Given the description of an element on the screen output the (x, y) to click on. 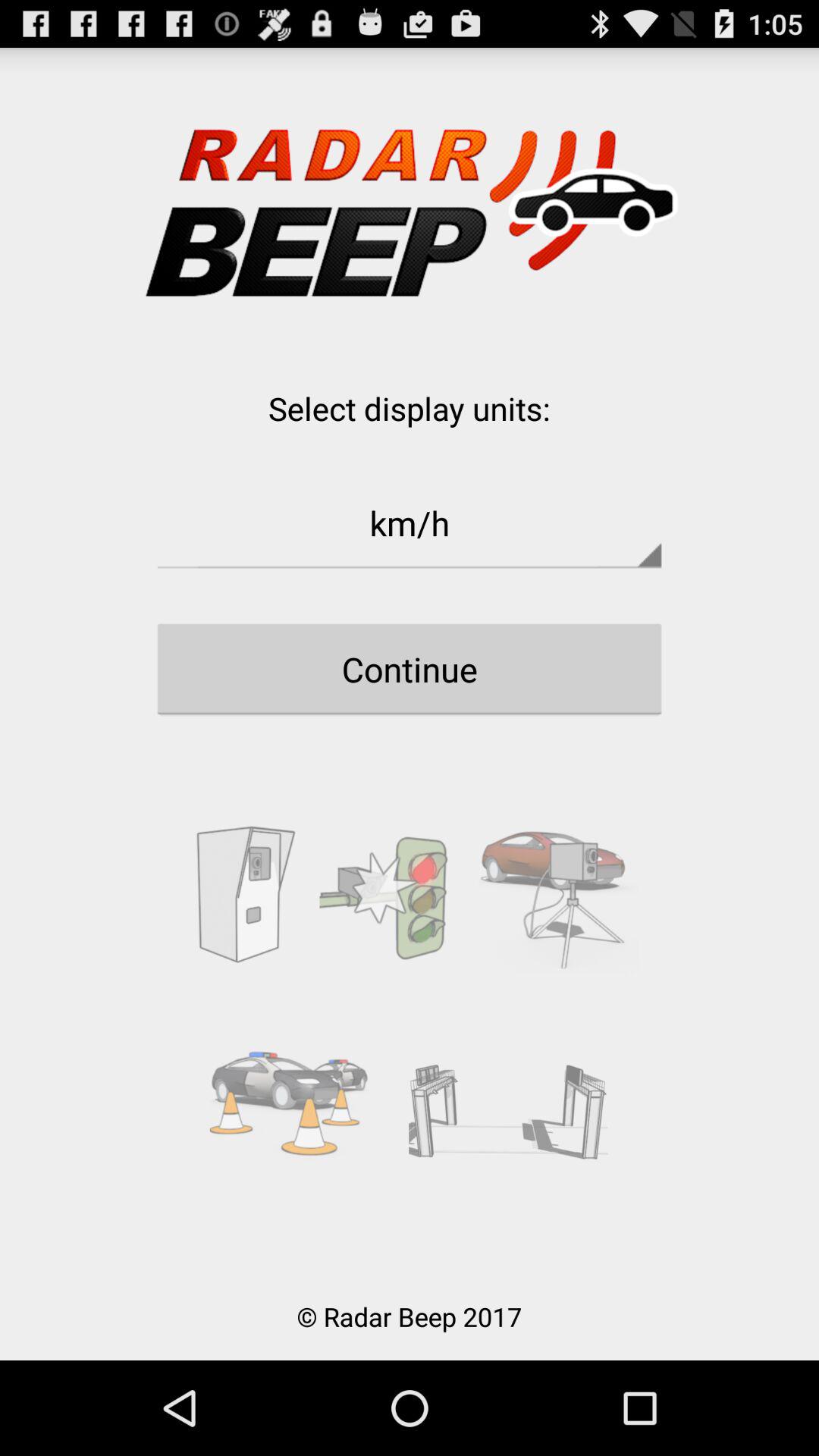
tap the button below the km/h (409, 668)
